Given the description of an element on the screen output the (x, y) to click on. 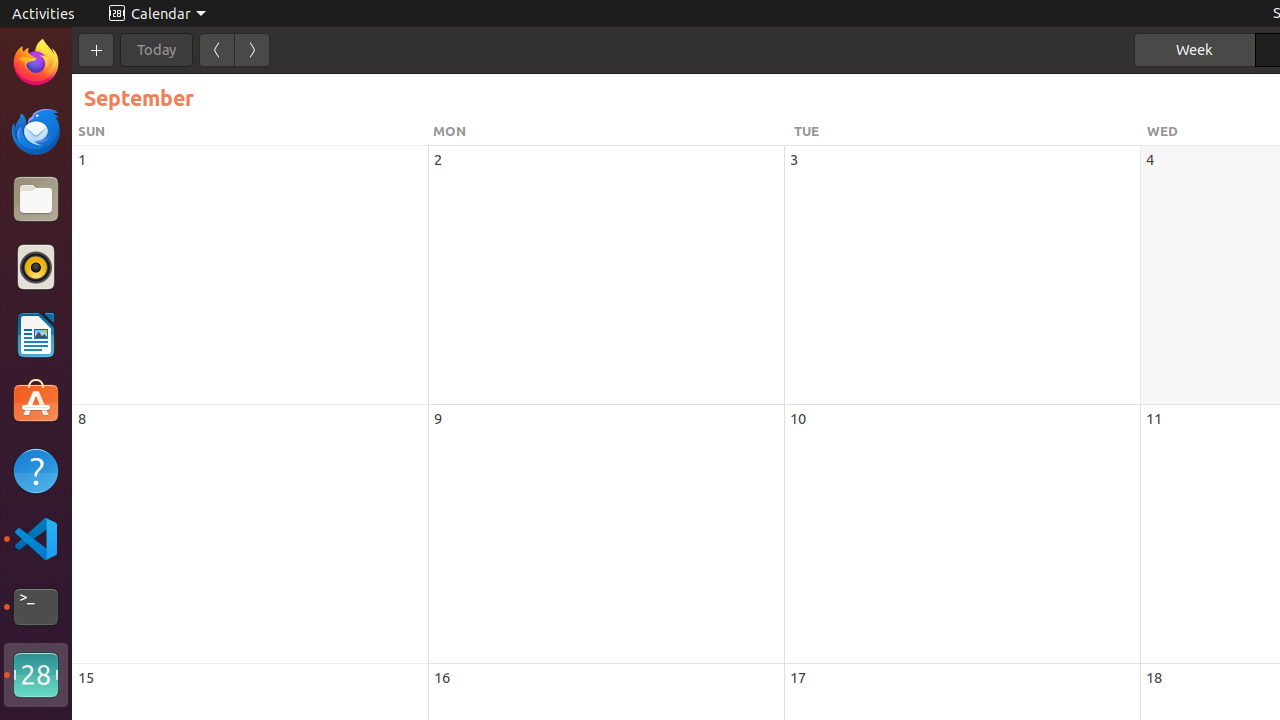
Trash Element type: label (133, 191)
10 Element type: label (798, 418)
SUN Element type: label (252, 131)
